Given the description of an element on the screen output the (x, y) to click on. 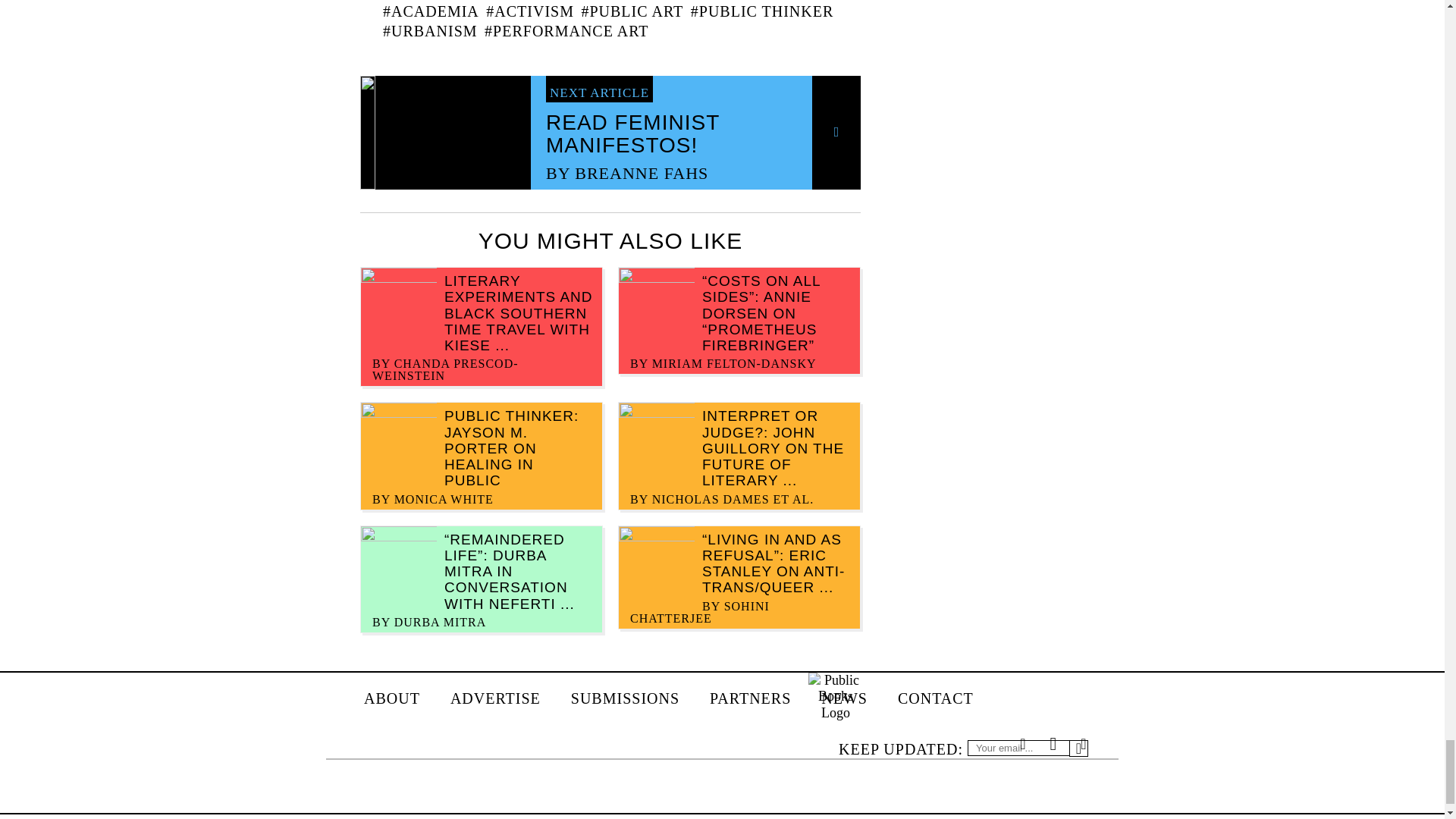
Public Thinker: Jayson M. Porter on Healing in Public (511, 447)
